Given the description of an element on the screen output the (x, y) to click on. 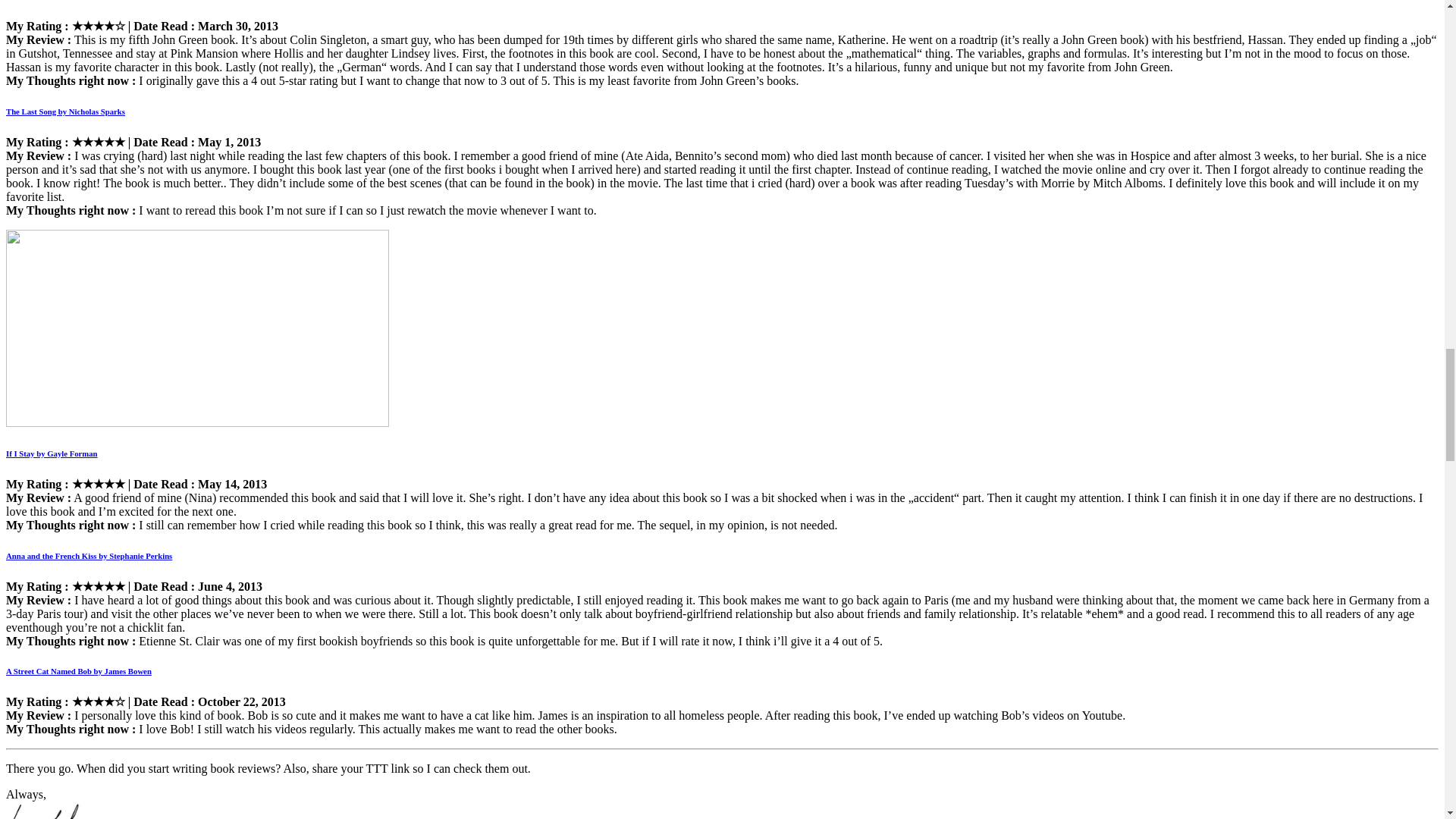
If I Stay by Gayle Forman (51, 452)
A Street Cat Named Bob by James Bowen (78, 670)
Anna and the French Kiss by Stephanie Perkins (88, 555)
The Last Song by Nicholas Sparks (65, 111)
